Given the description of an element on the screen output the (x, y) to click on. 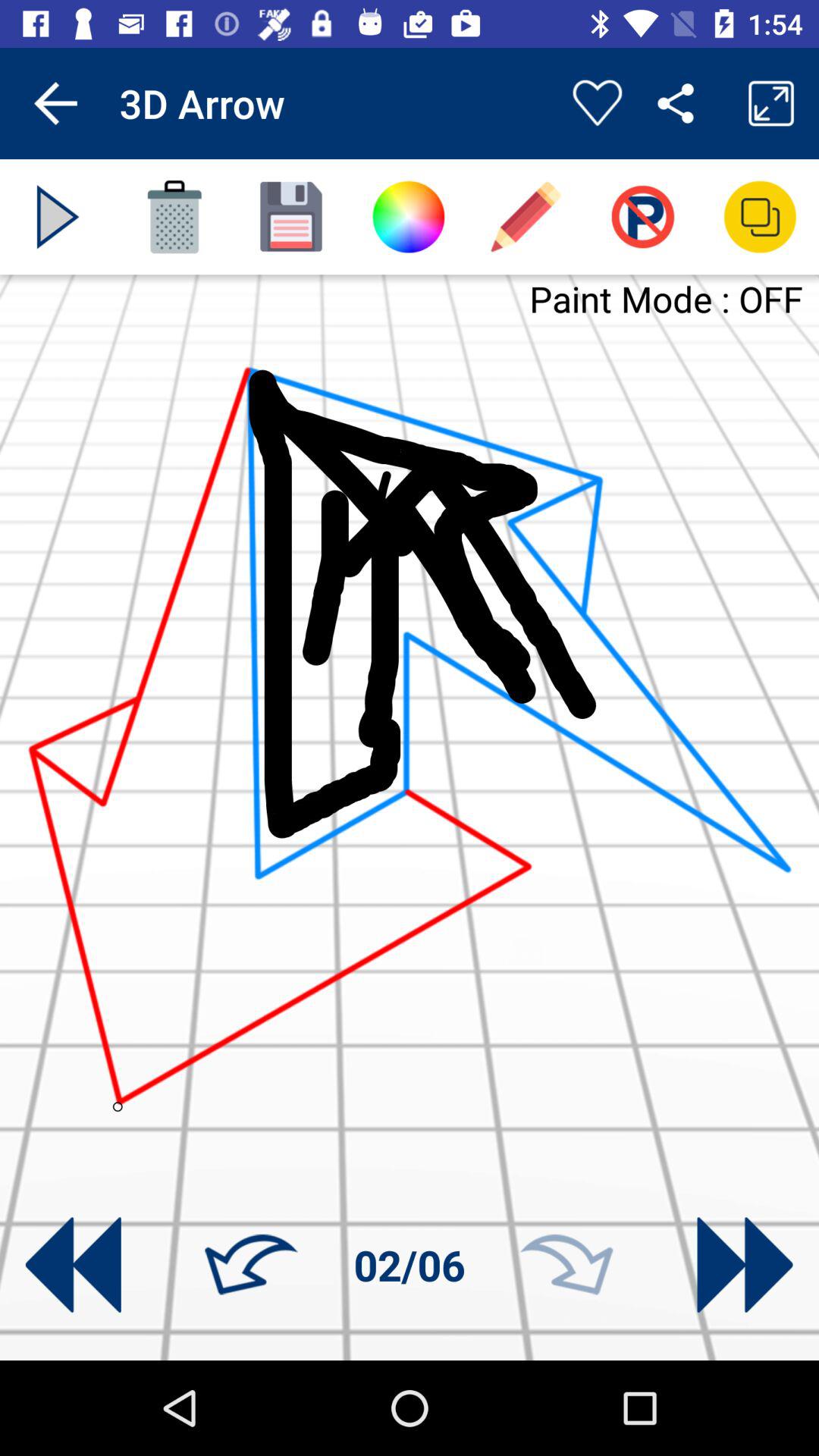
open the item next to the 02/06 icon (566, 1264)
